Given the description of an element on the screen output the (x, y) to click on. 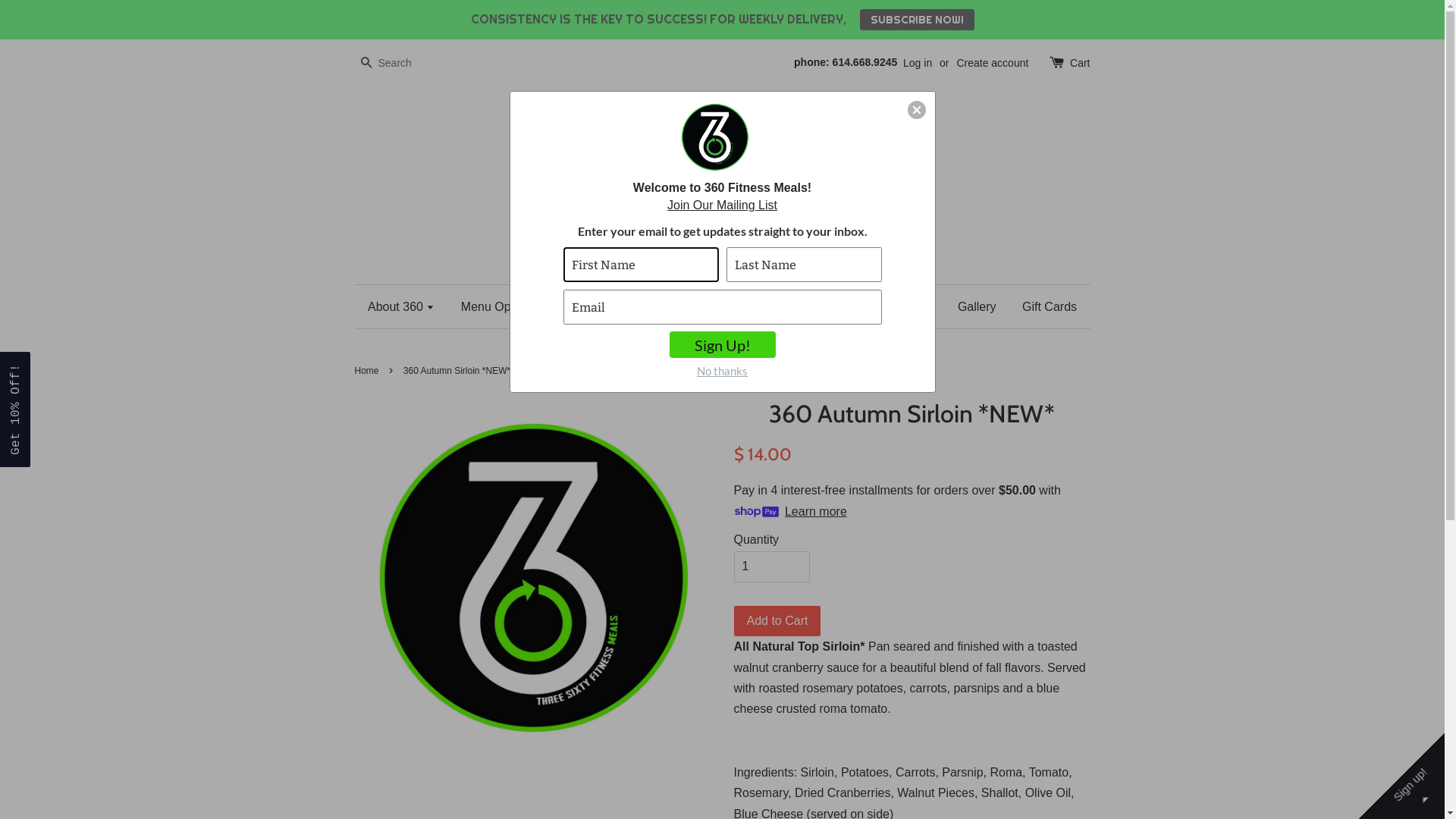
Cart Element type: text (1079, 63)
Gift Cards Element type: text (1043, 306)
SUBSCRIBE NOW! Element type: text (916, 19)
Log in Element type: text (917, 62)
Home Element type: text (368, 370)
About 360 Element type: text (406, 306)
Monthly Fit Pack (Savings & Consistency) Element type: text (686, 306)
Add to Cart Element type: text (777, 621)
Close Element type: hover (915, 109)
Shipping & Delivery Element type: text (878, 306)
Create account Element type: text (992, 62)
Search Element type: text (365, 63)
Menu Options Element type: text (504, 306)
Gallery Element type: text (976, 306)
